Given the description of an element on the screen output the (x, y) to click on. 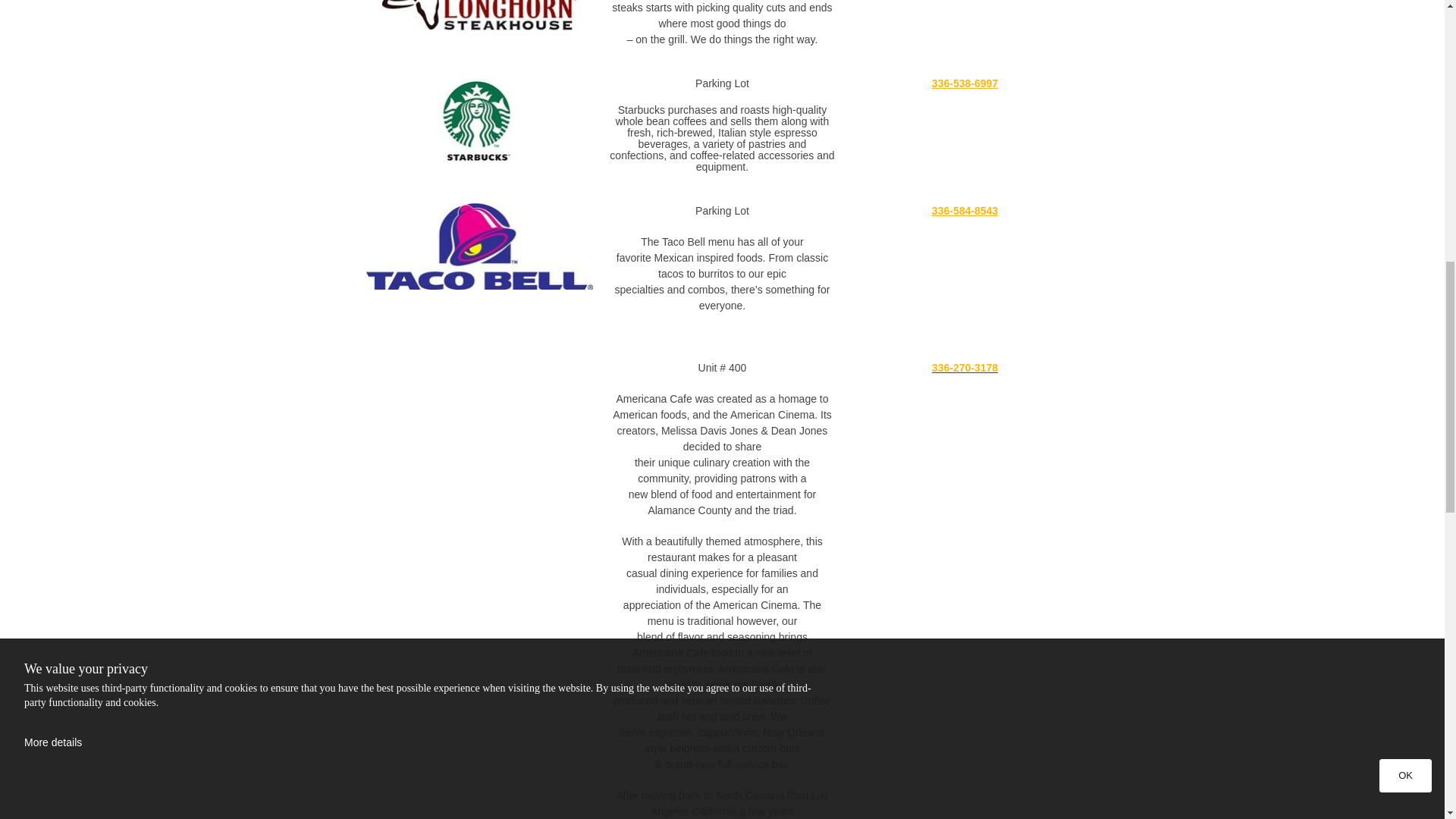
336-270-3178 (964, 367)
336-584-8543 (964, 210)
336-538-6997 (964, 82)
